Given the description of an element on the screen output the (x, y) to click on. 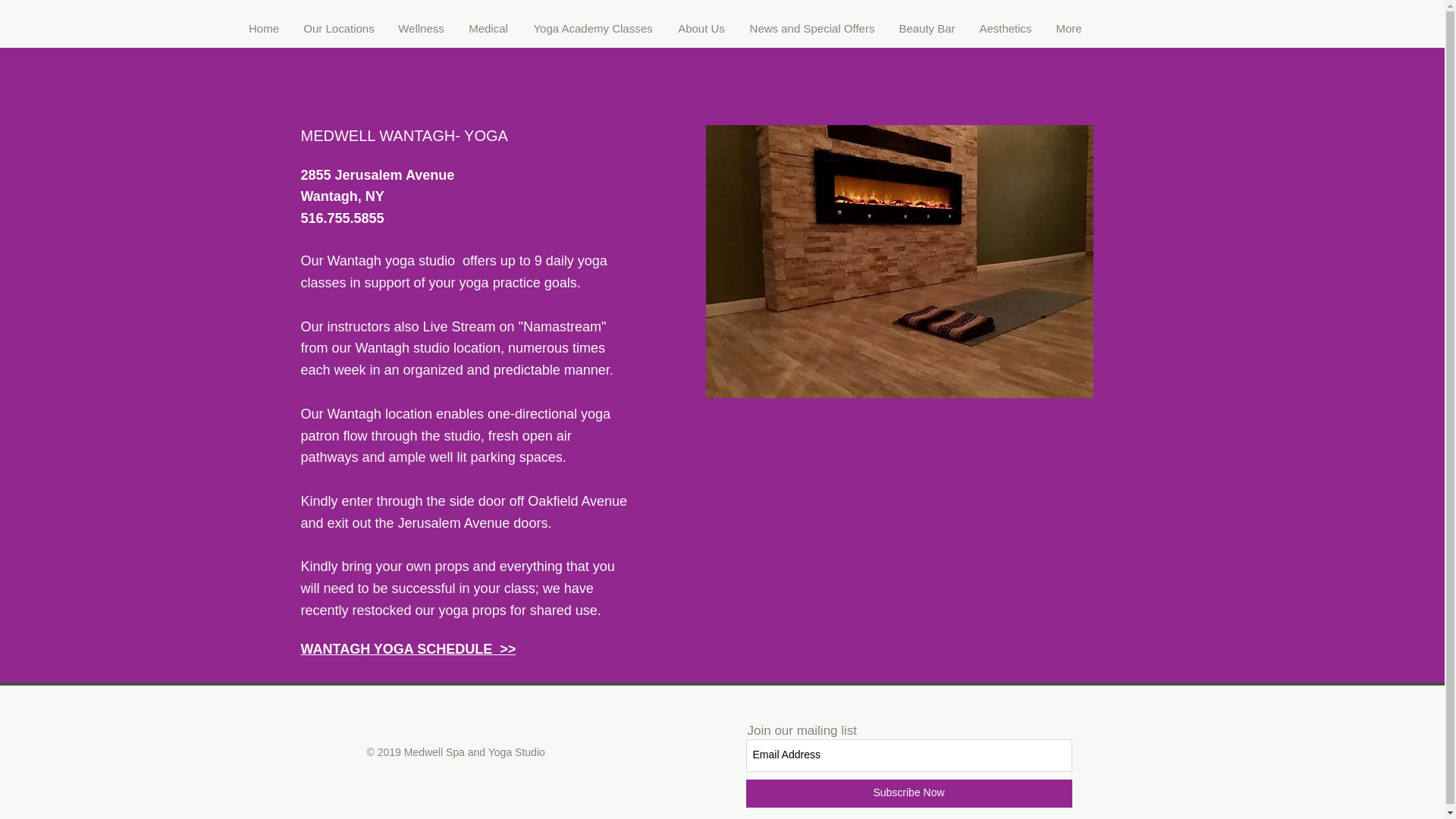
Subscribe Now (908, 793)
Home (263, 28)
